Given the description of an element on the screen output the (x, y) to click on. 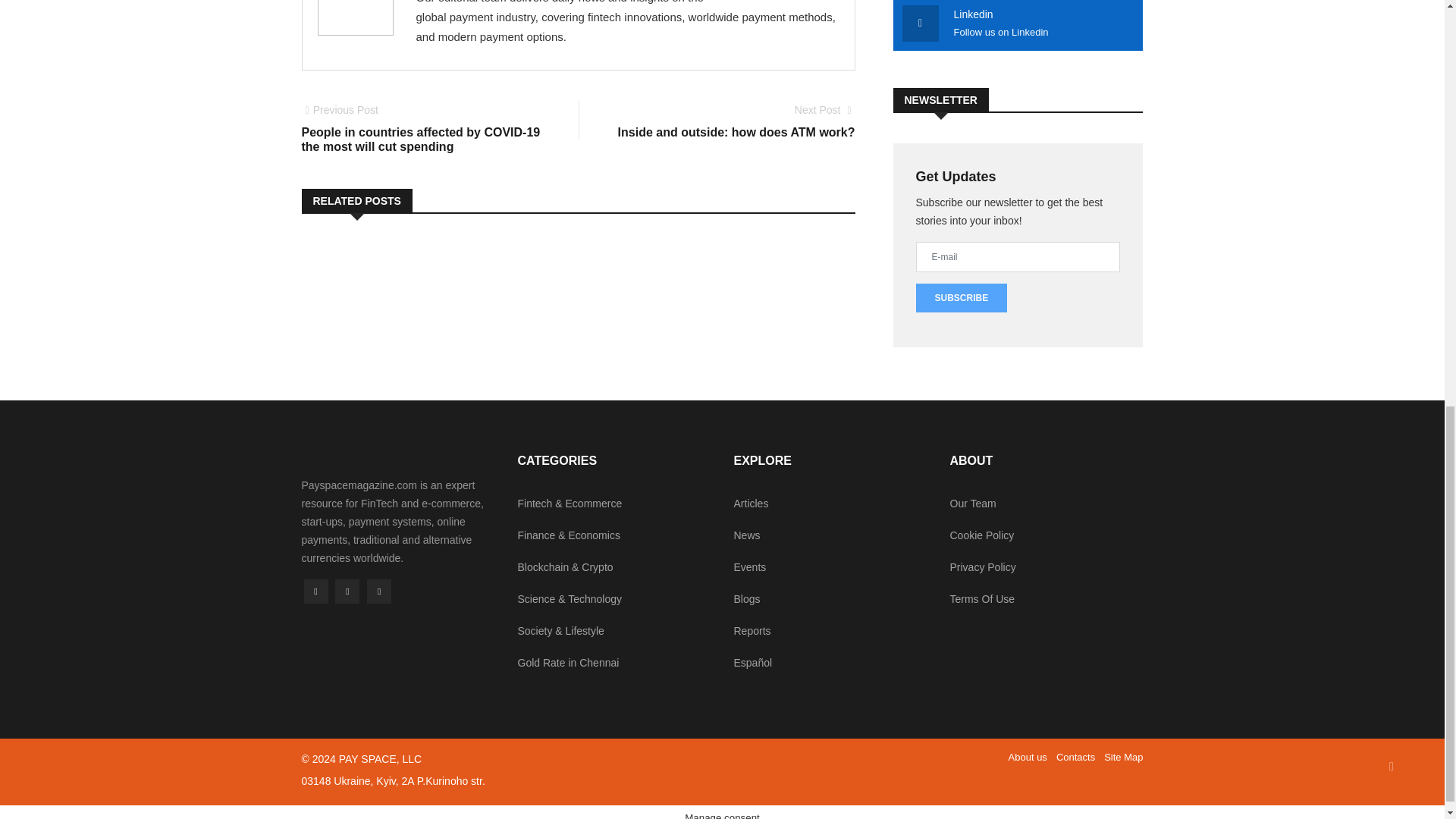
Twitter (346, 591)
RSS (733, 121)
Facebook (378, 591)
